Given the description of an element on the screen output the (x, y) to click on. 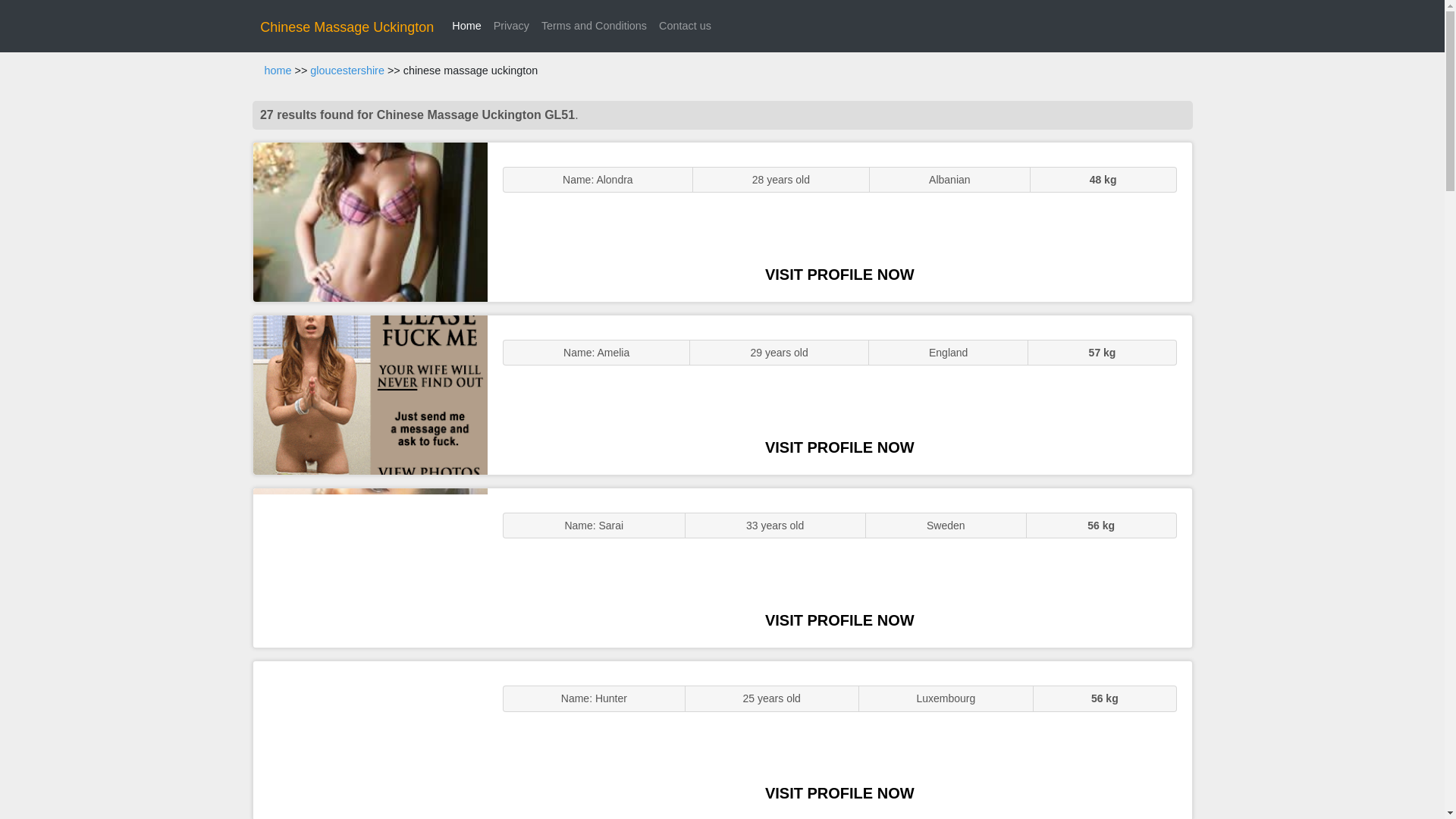
 ENGLISH STUNNER (370, 222)
Chinese Massage Uckington (346, 27)
Sluts (370, 739)
Contact us (684, 25)
Privacy (511, 25)
VISIT PROFILE NOW (839, 792)
home (277, 70)
GFE (370, 395)
Sexy (370, 567)
Terms and Conditions (593, 25)
